Given the description of an element on the screen output the (x, y) to click on. 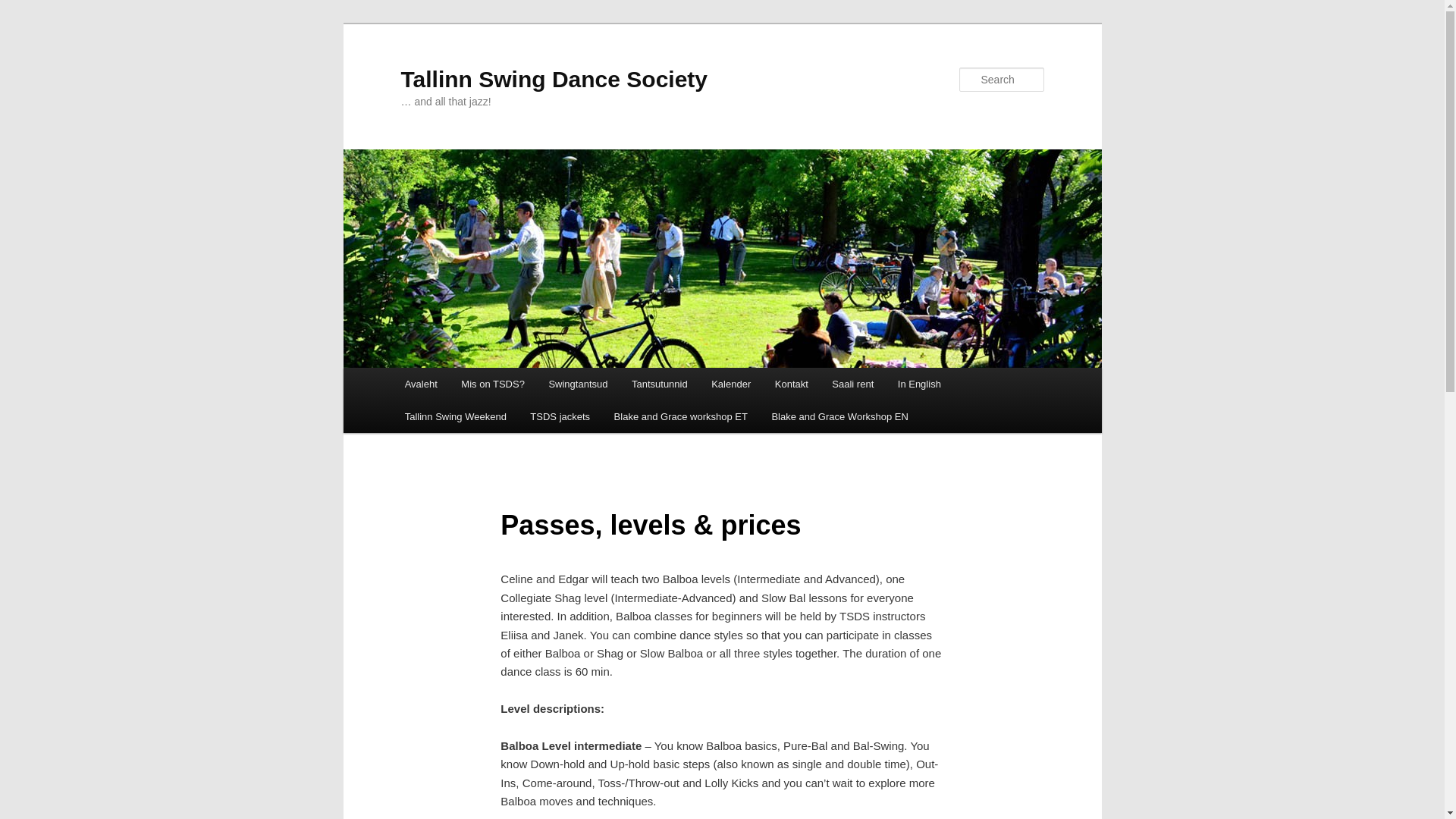
Skip to primary content (472, 386)
In English (919, 383)
Swingtantsud (578, 383)
Kalender (730, 383)
Blake and Grace Workshop EN (840, 416)
Skip to secondary content (479, 386)
Saali rent (853, 383)
Blake and Grace workshop ET (681, 416)
Tallinn Swing Dance Society (553, 78)
Skip to primary content (472, 386)
